Given the description of an element on the screen output the (x, y) to click on. 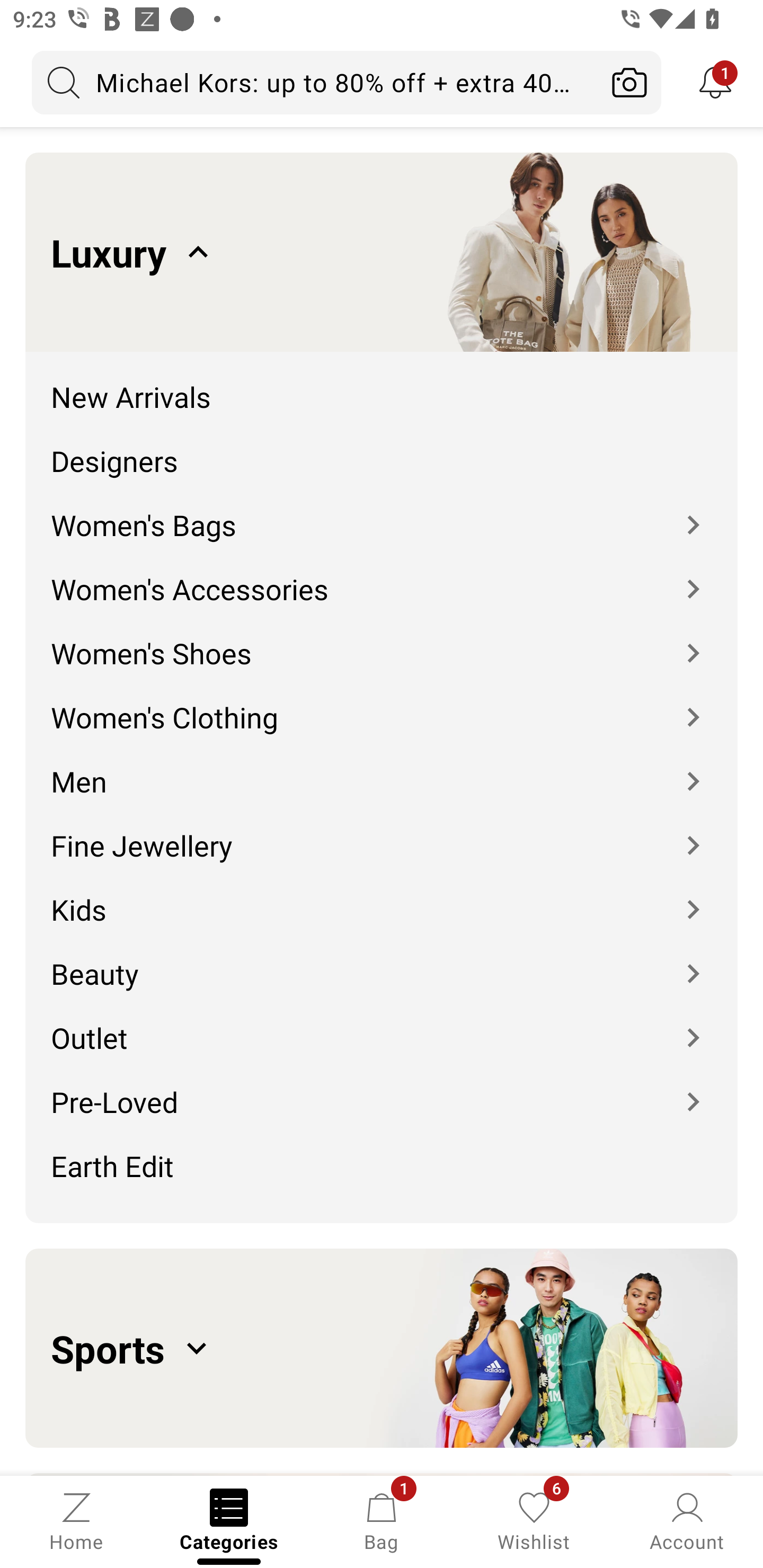
Michael Kors: up to 80% off + extra 40% off (314, 82)
Luxury (381, 251)
New Arrivals (381, 383)
Designers (381, 447)
Women's Bags (381, 511)
Women's Accessories (381, 576)
Women's Shoes (381, 640)
Women's Clothing (381, 704)
Men (381, 767)
Fine Jewellery (381, 831)
Kids (381, 895)
Beauty (381, 960)
Outlet (381, 1024)
Pre-Loved (381, 1088)
Earth Edit (381, 1172)
Sports (381, 1347)
Home (76, 1519)
Bag, 1 new notification Bag (381, 1519)
Wishlist, 6 new notifications Wishlist (533, 1519)
Account (686, 1519)
